Given the description of an element on the screen output the (x, y) to click on. 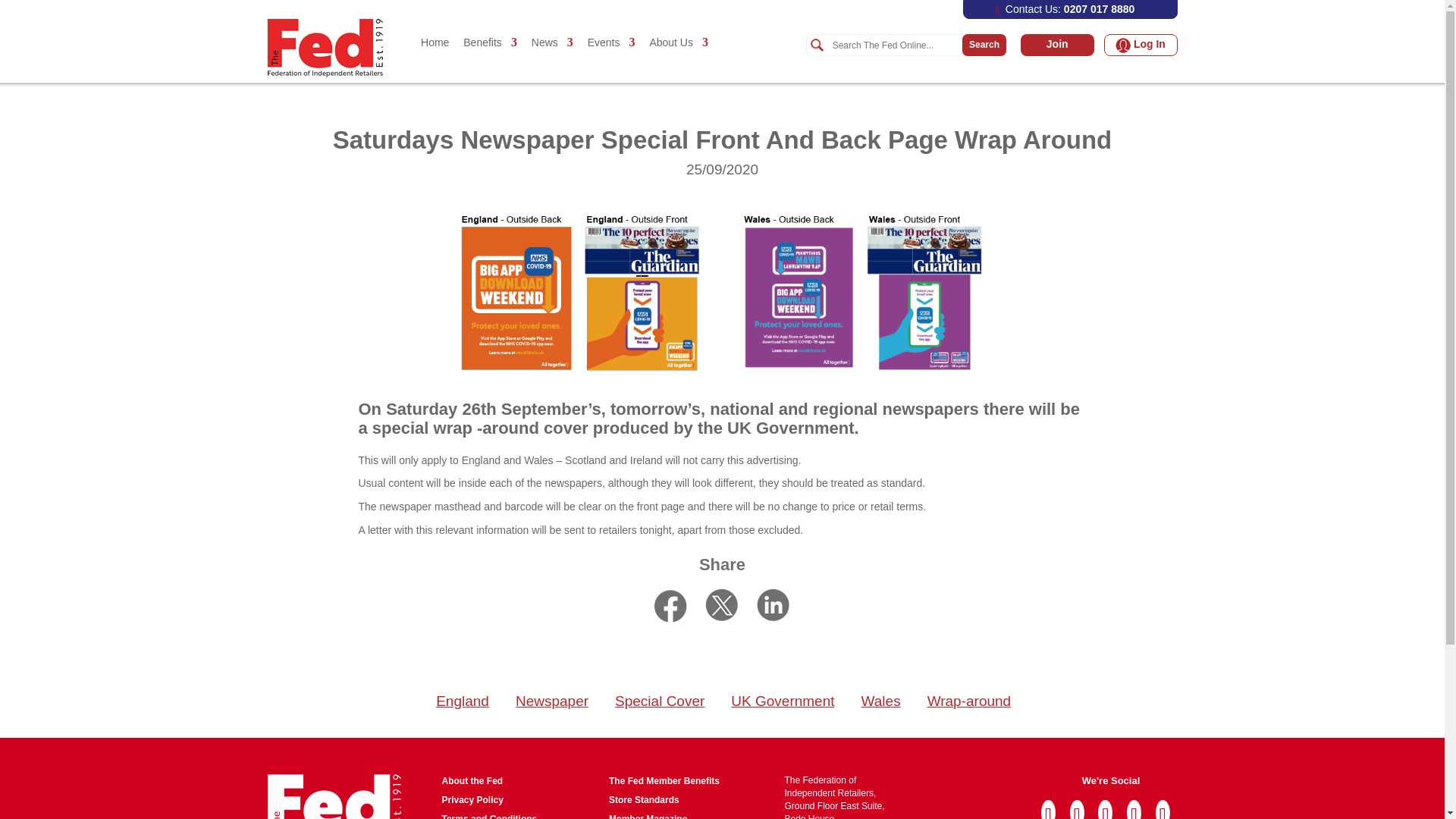
Benefits (489, 57)
0207 017 8880 (1099, 9)
Search (894, 45)
